Given the description of an element on the screen output the (x, y) to click on. 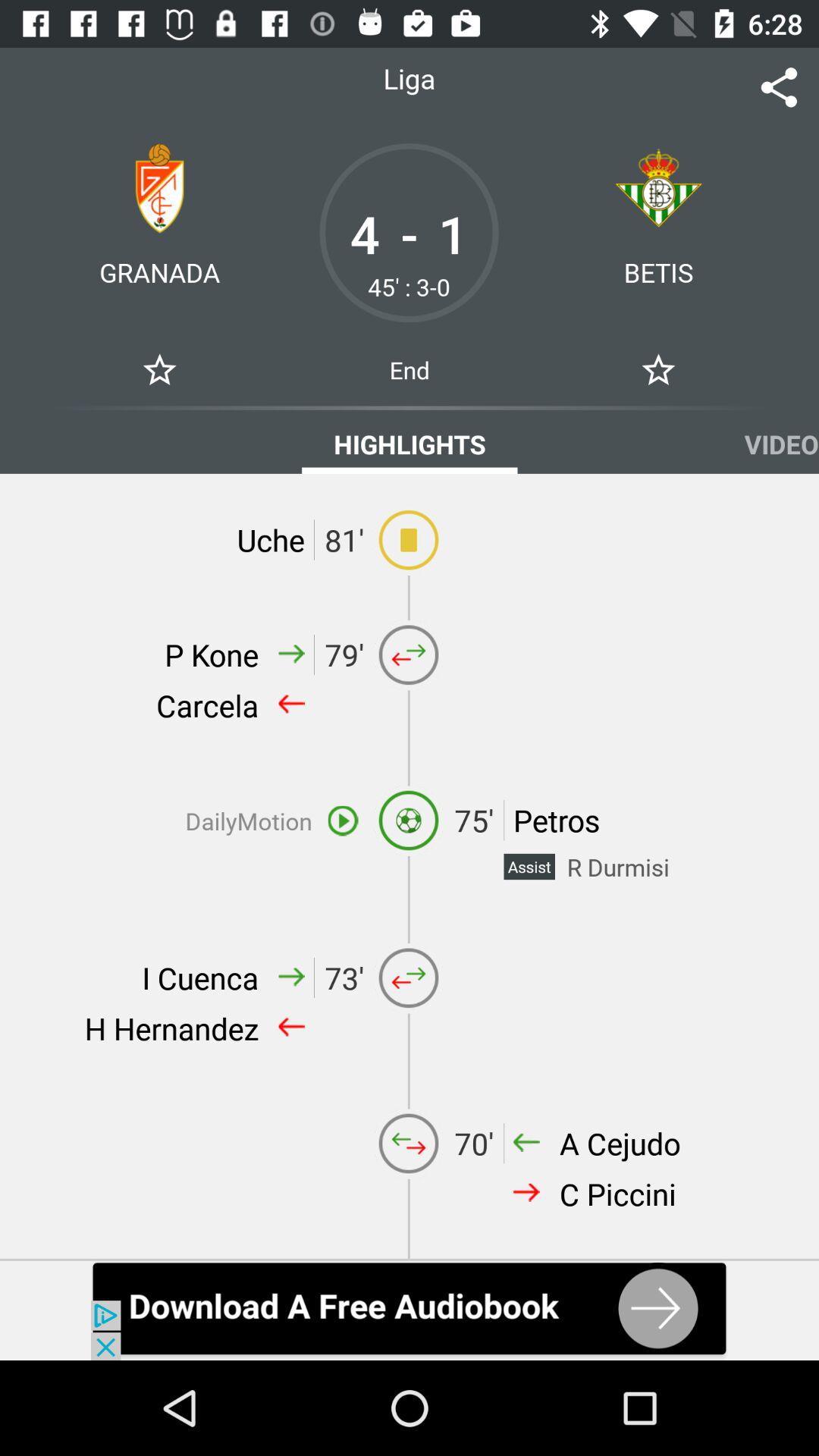
go to advertisement (409, 1310)
